Given the description of an element on the screen output the (x, y) to click on. 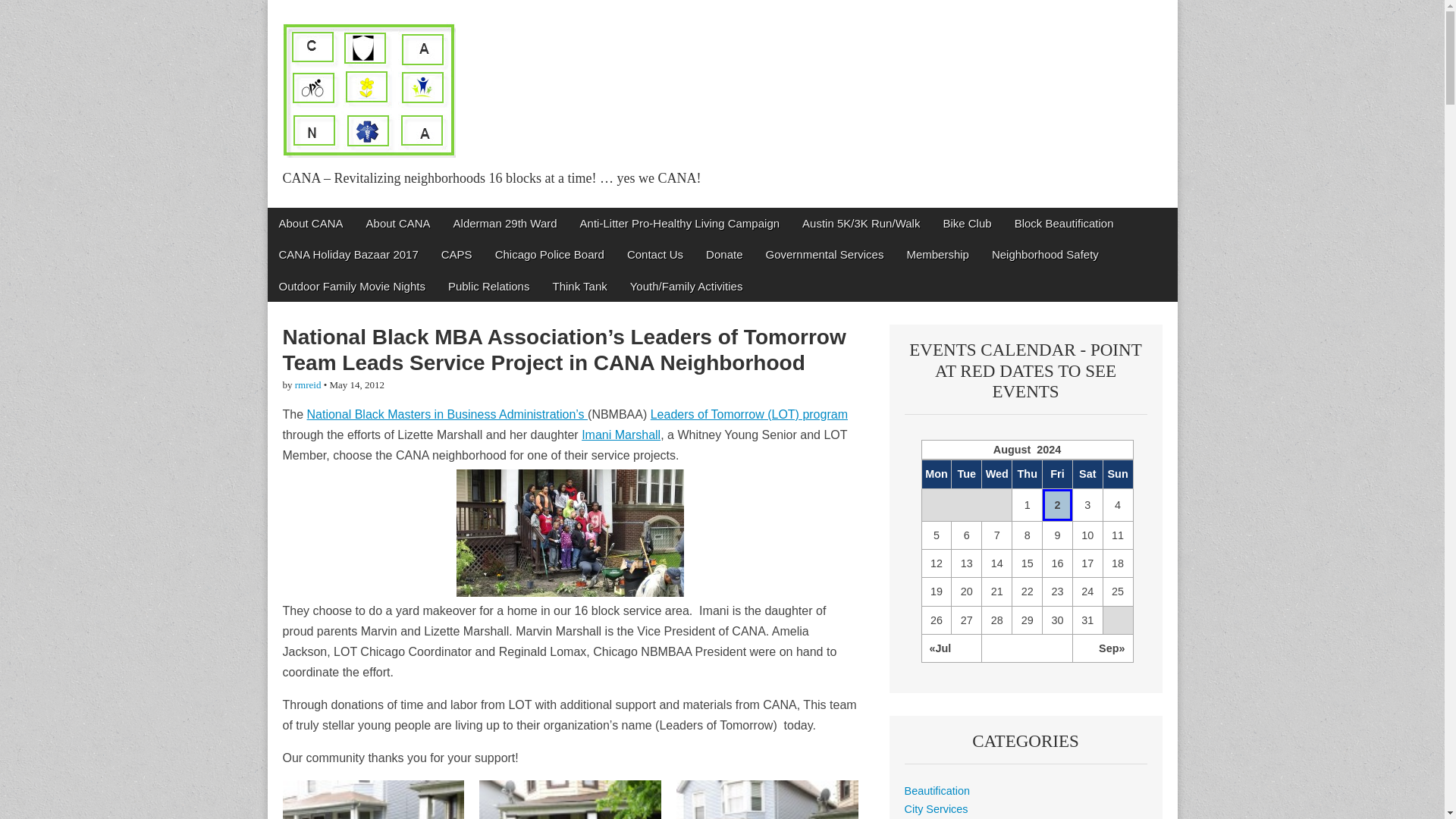
Tuesday (966, 474)
Thursday (1026, 474)
DSC00311 (570, 533)
Anti-Litter Pro-Healthy Living Campaign (679, 223)
Contact Us (654, 254)
Chicago Police Board (549, 254)
Outdoor Family Movie Nights (350, 286)
About CANA (309, 223)
CANA Holiday Bazaar 2017 (347, 254)
Donate (724, 254)
